Given the description of an element on the screen output the (x, y) to click on. 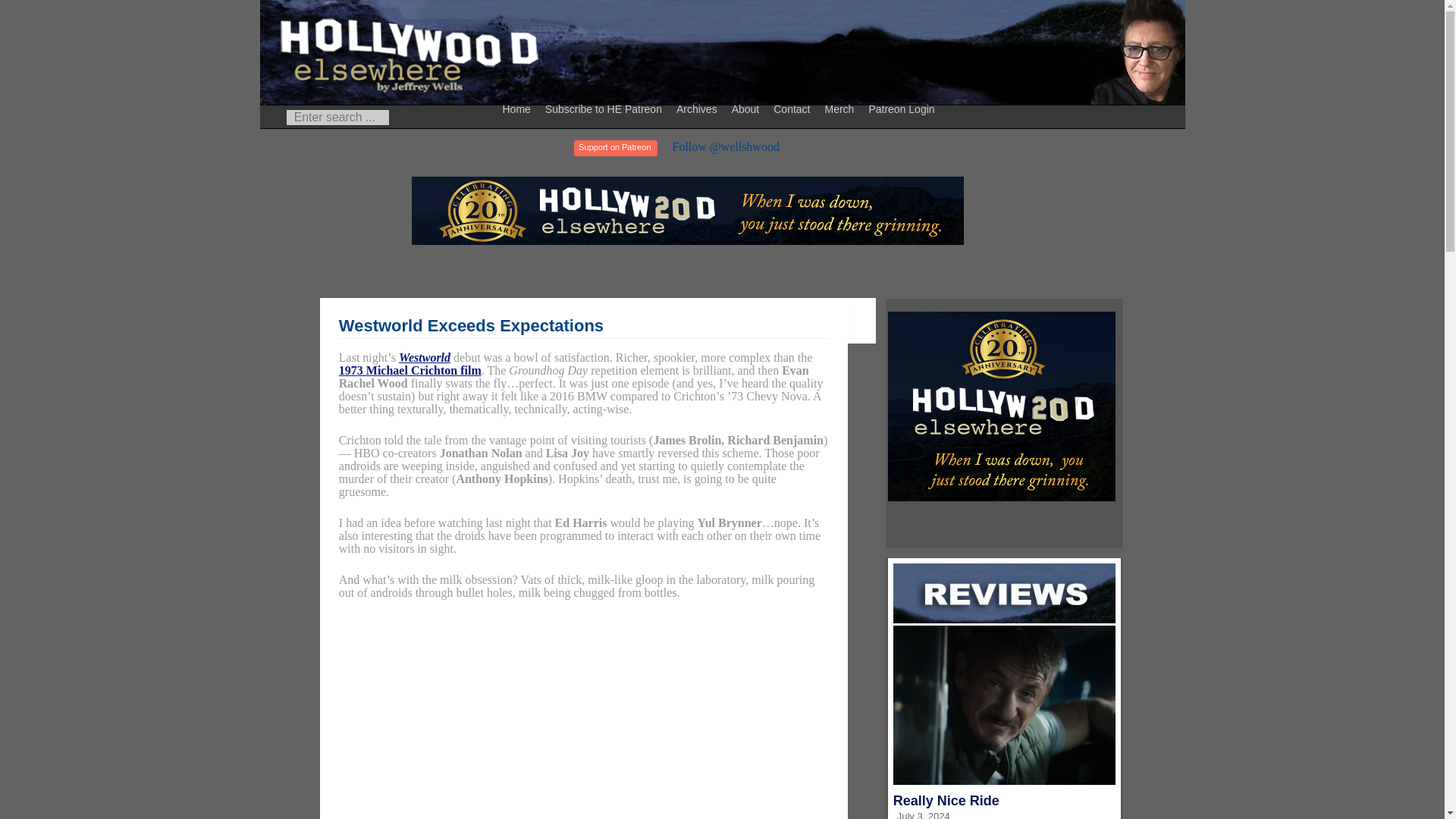
Archives (698, 108)
About (747, 108)
Westworld Exceeds Expectations (471, 325)
Westworld (423, 357)
Home (519, 108)
Subscribe to HE Patreon (605, 108)
Permanent Link to Westworld Exceeds Expectations (471, 325)
Support on Patreon (614, 148)
1973 Michael Crichton film (410, 369)
Merch (841, 108)
Contact (793, 108)
